Given the description of an element on the screen output the (x, y) to click on. 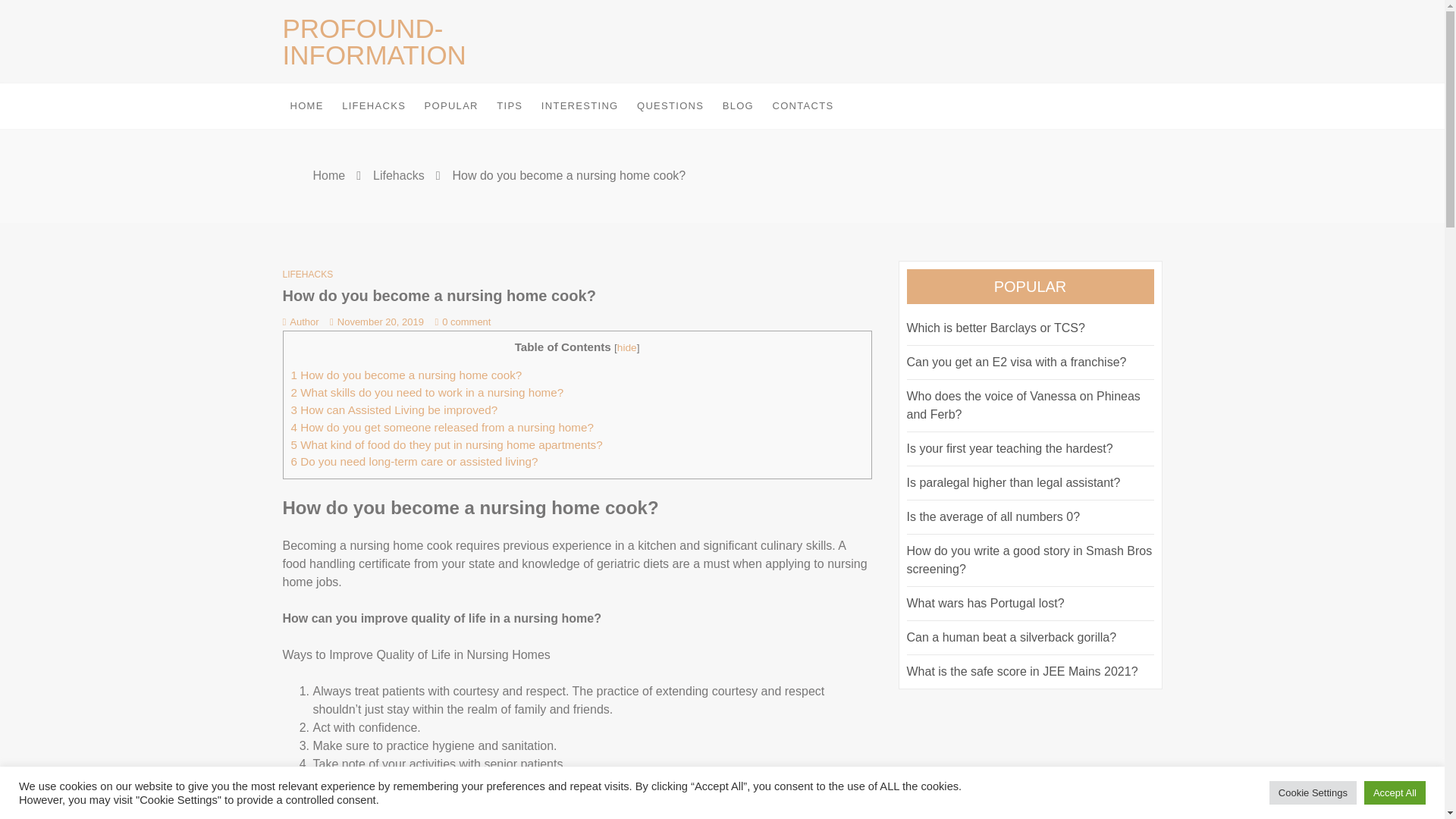
5 What kind of food do they put in nursing home apartments? (446, 444)
LIFEHACKS (373, 105)
QUESTIONS (669, 105)
Lifehacks (398, 174)
6 Do you need long-term care or assisted living? (414, 461)
Author (300, 320)
CONTACTS (802, 105)
Who does the voice of Vanessa on Phineas and Ferb? (1023, 404)
4 How do you get someone released from a nursing home? (442, 427)
INTERESTING (580, 105)
